Given the description of an element on the screen output the (x, y) to click on. 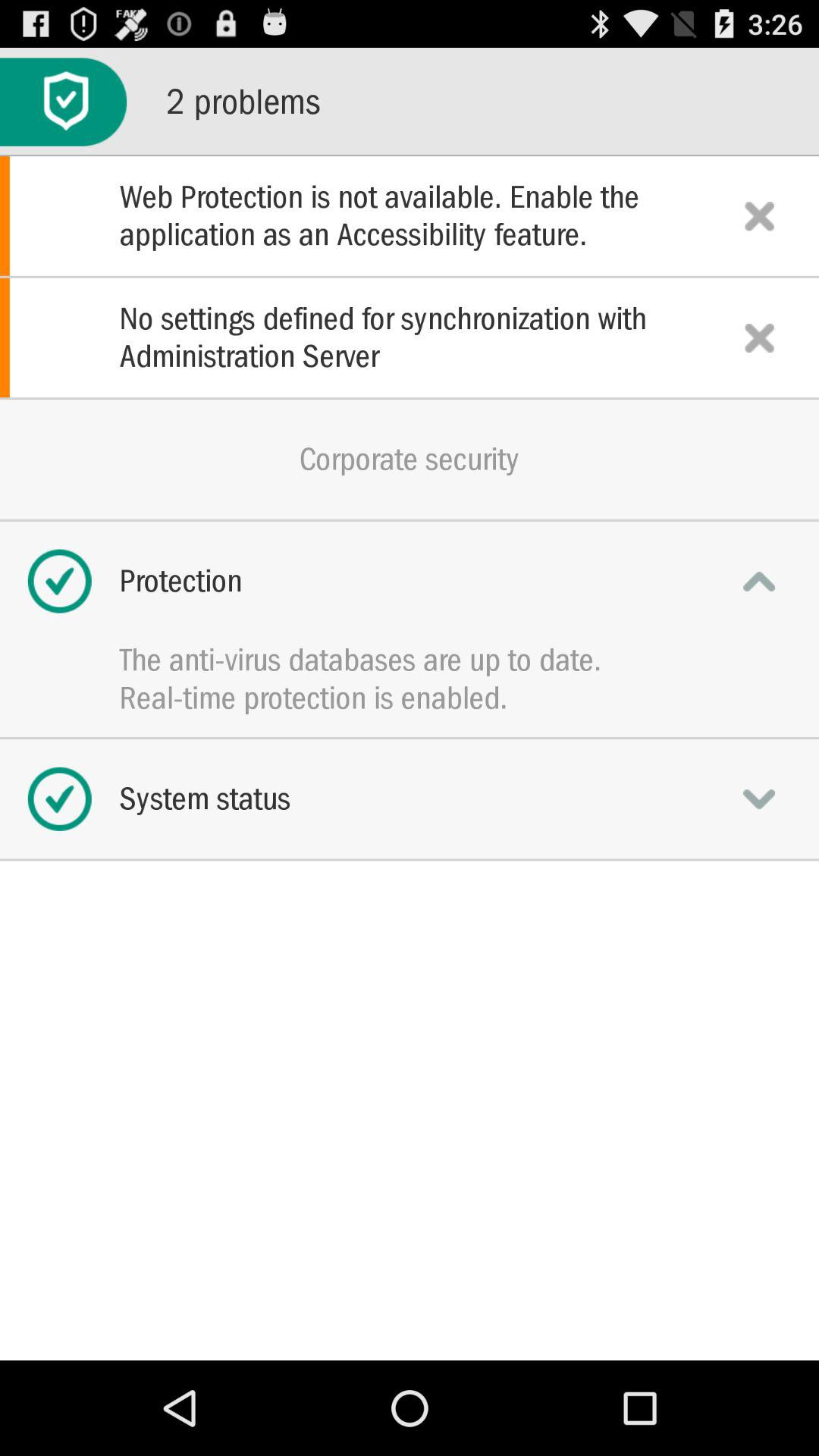
turn on the icon to the left of 2 problems item (63, 102)
